Given the description of an element on the screen output the (x, y) to click on. 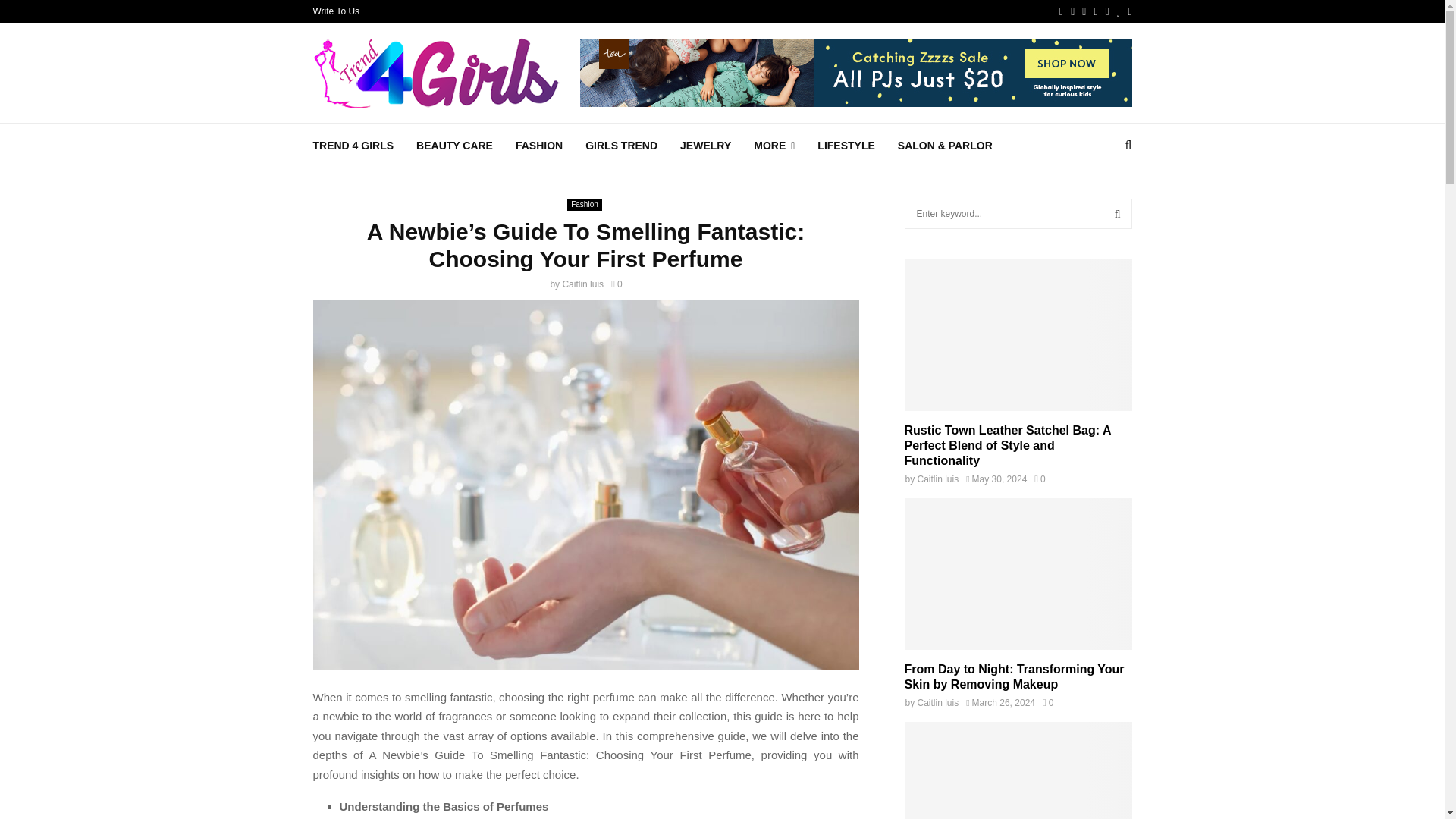
FASHION (538, 145)
Caitlin luis (583, 284)
JEWELRY (704, 145)
LIFESTYLE (845, 145)
Write To Us (336, 11)
BEAUTY CARE (454, 145)
TREND 4 GIRLS (353, 145)
0 (616, 284)
GIRLS TREND (621, 145)
MORE (774, 145)
